Given the description of an element on the screen output the (x, y) to click on. 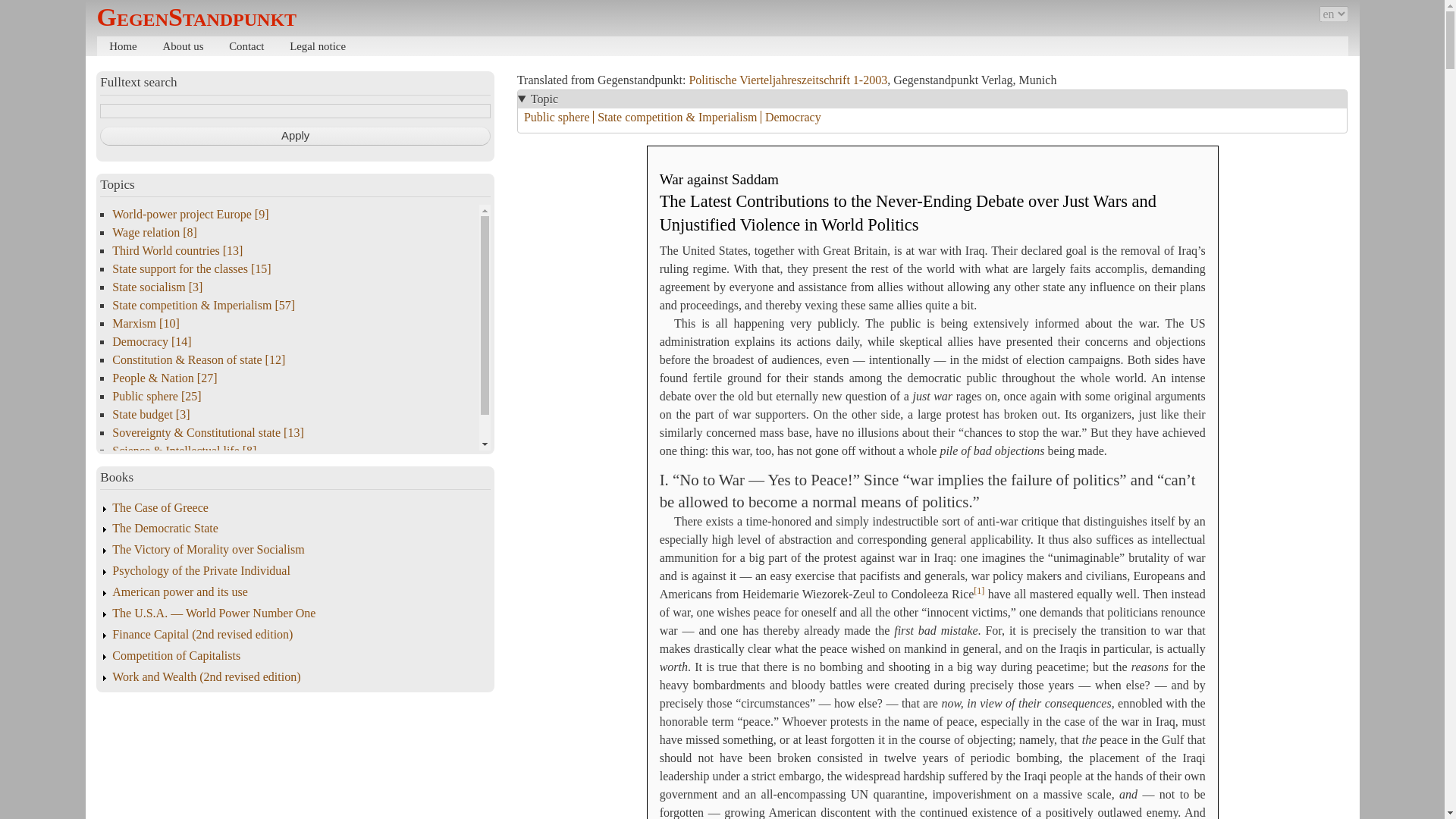
Contact (245, 46)
GegenStandpunkt (197, 17)
Democracy (792, 116)
Apply (295, 135)
Home (123, 46)
Skip to main content (722, 1)
Politische Vierteljahreszeitschrift 1-2003 (787, 79)
Public sphere (558, 116)
Apply (295, 135)
About us (183, 46)
Legal notice (317, 46)
